Given the description of an element on the screen output the (x, y) to click on. 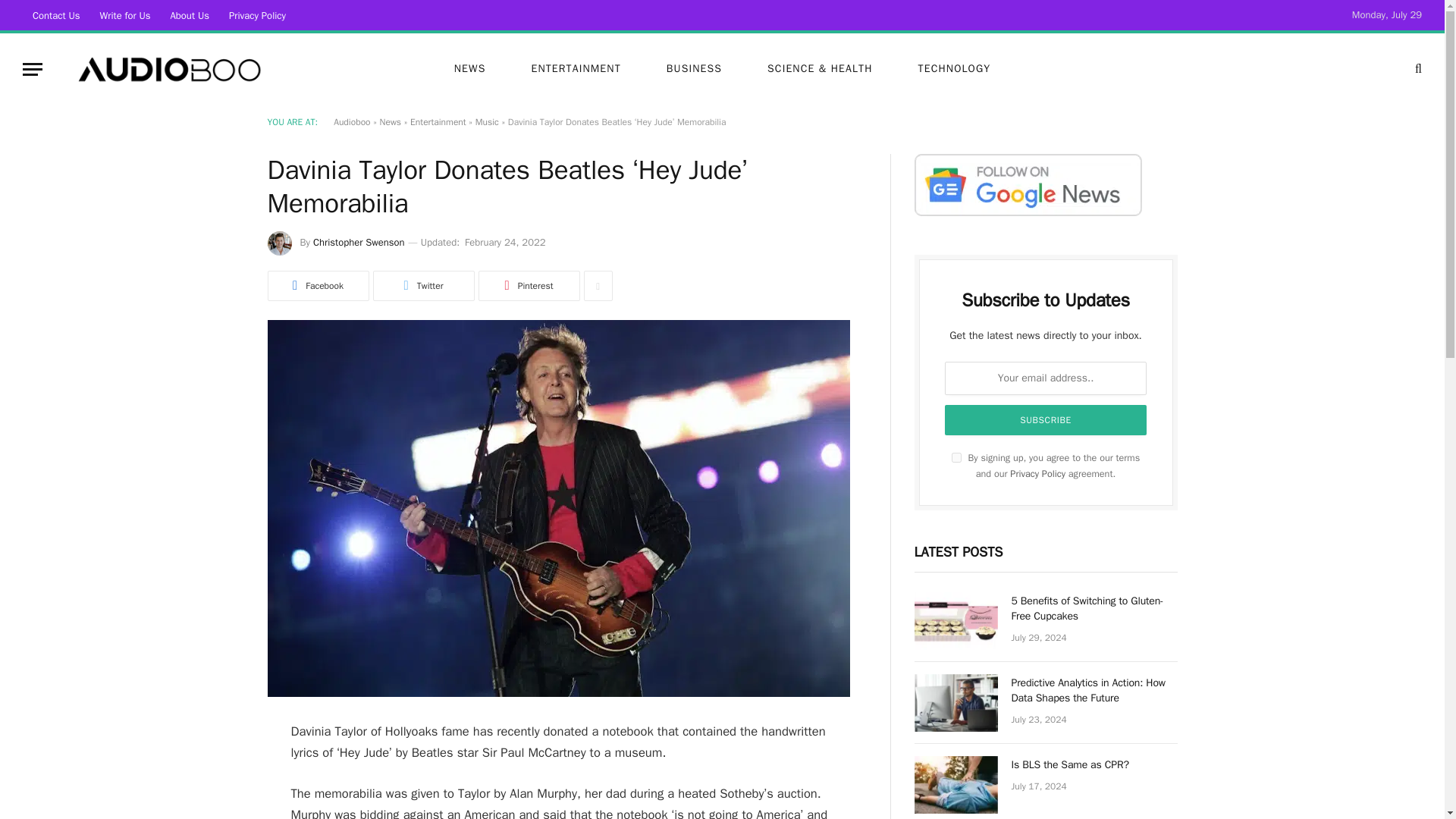
Christopher Swenson (358, 241)
About Us (189, 15)
Subscribe (1045, 419)
Privacy Policy (257, 15)
Music (487, 121)
Entertainment (437, 121)
News (390, 121)
Posts by Christopher Swenson (358, 241)
Write for Us (125, 15)
NEWS (469, 68)
Twitter (423, 286)
Share on Facebook (317, 286)
Pinterest (528, 286)
Audioboo (167, 68)
Audioboo (351, 121)
